Given the description of an element on the screen output the (x, y) to click on. 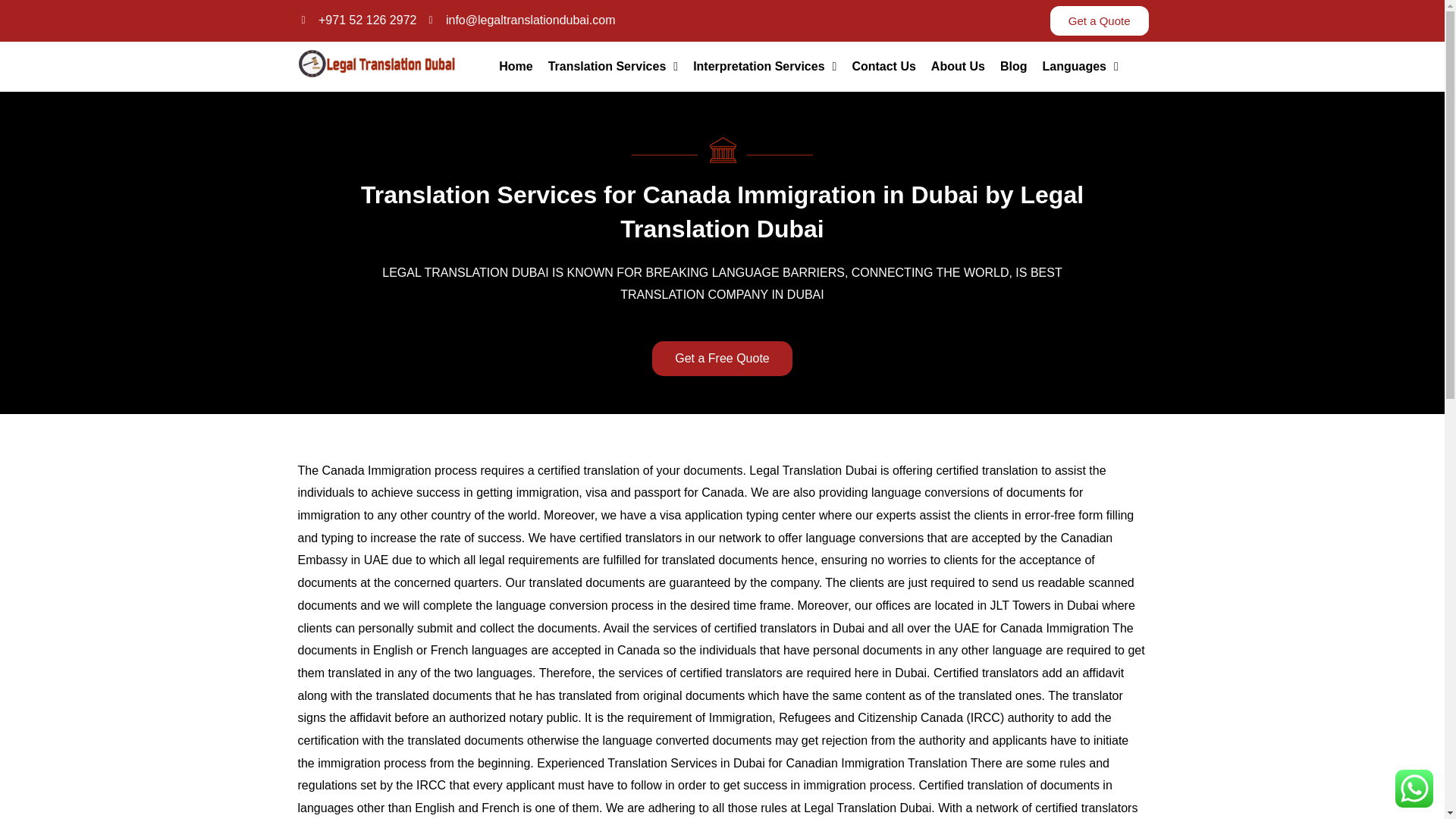
Get a Quote (1099, 20)
